Given the description of an element on the screen output the (x, y) to click on. 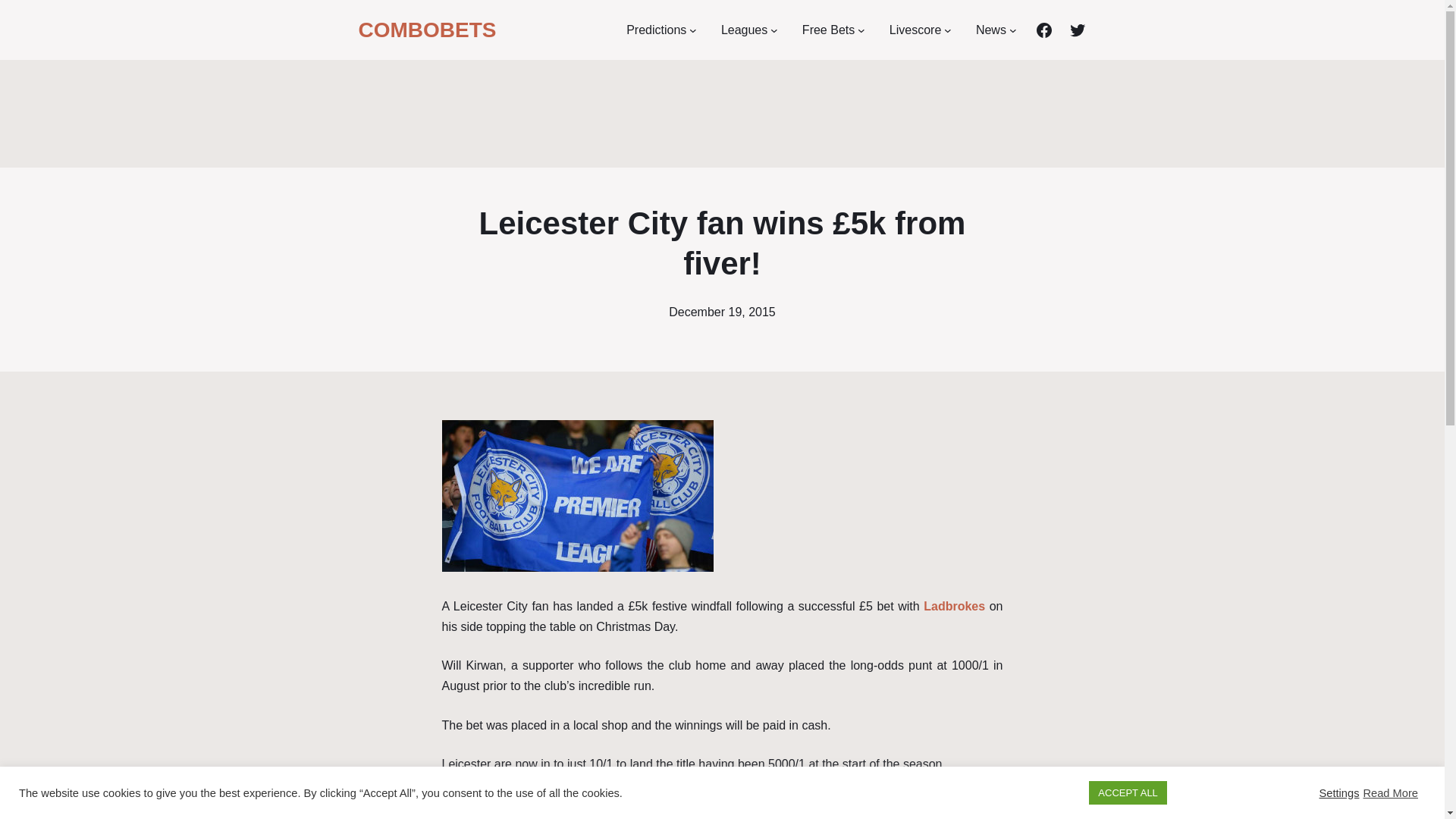
Ladbrokes (564, 802)
News (990, 29)
Leagues (743, 29)
Free Bets (828, 29)
Livescore (914, 29)
Facebook (1042, 30)
Twitter (1076, 30)
Ladbrokes (954, 605)
Predictions (655, 29)
COMBOBETS (427, 29)
